Given the description of an element on the screen output the (x, y) to click on. 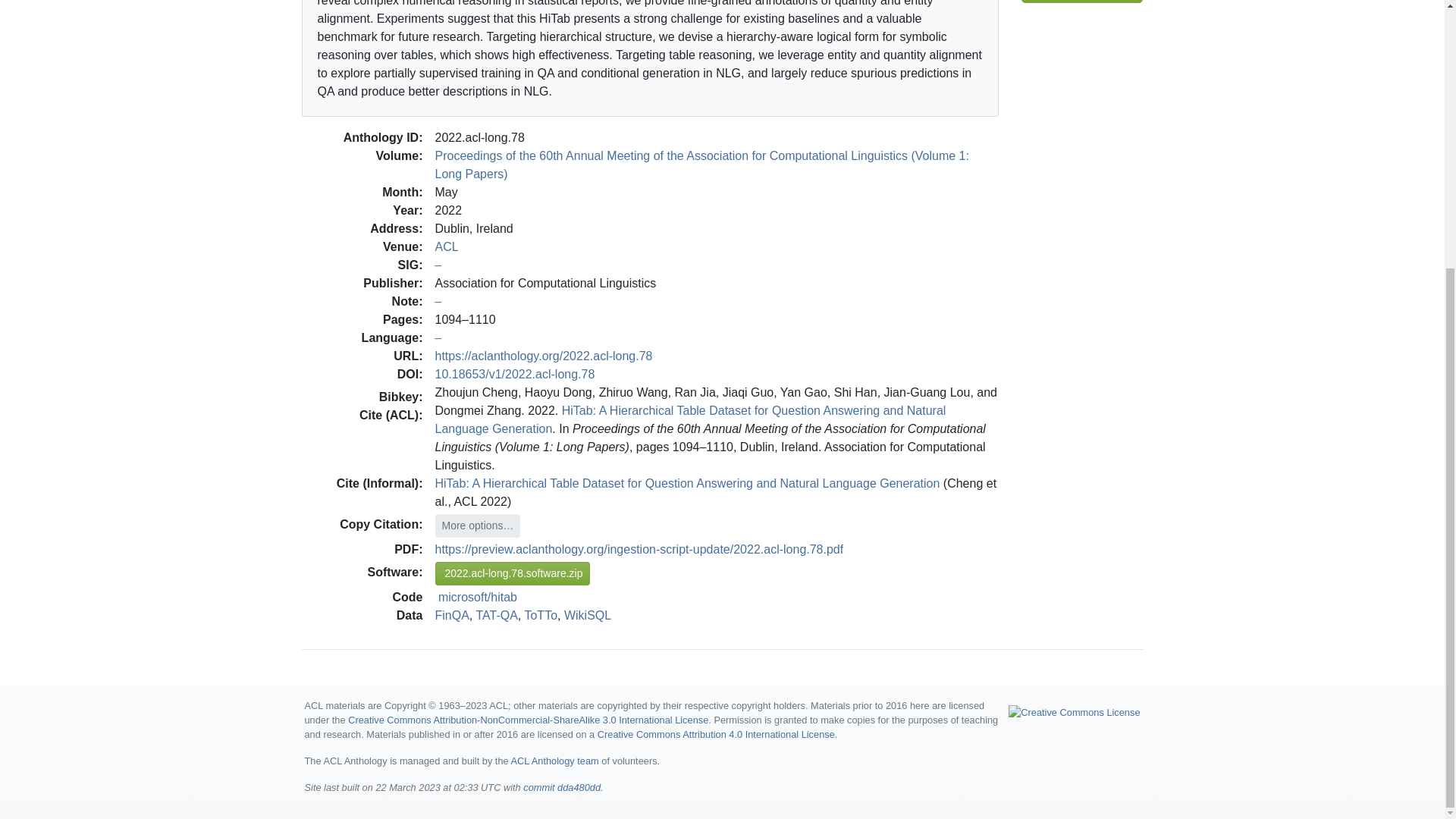
ToTTo (540, 614)
TAT-QA (496, 614)
To the current version of the paper by DOI (515, 373)
ACL (446, 245)
Software (1082, 1)
 2022.acl-long.78.software.zip (512, 572)
FinQA (451, 614)
